Given the description of an element on the screen output the (x, y) to click on. 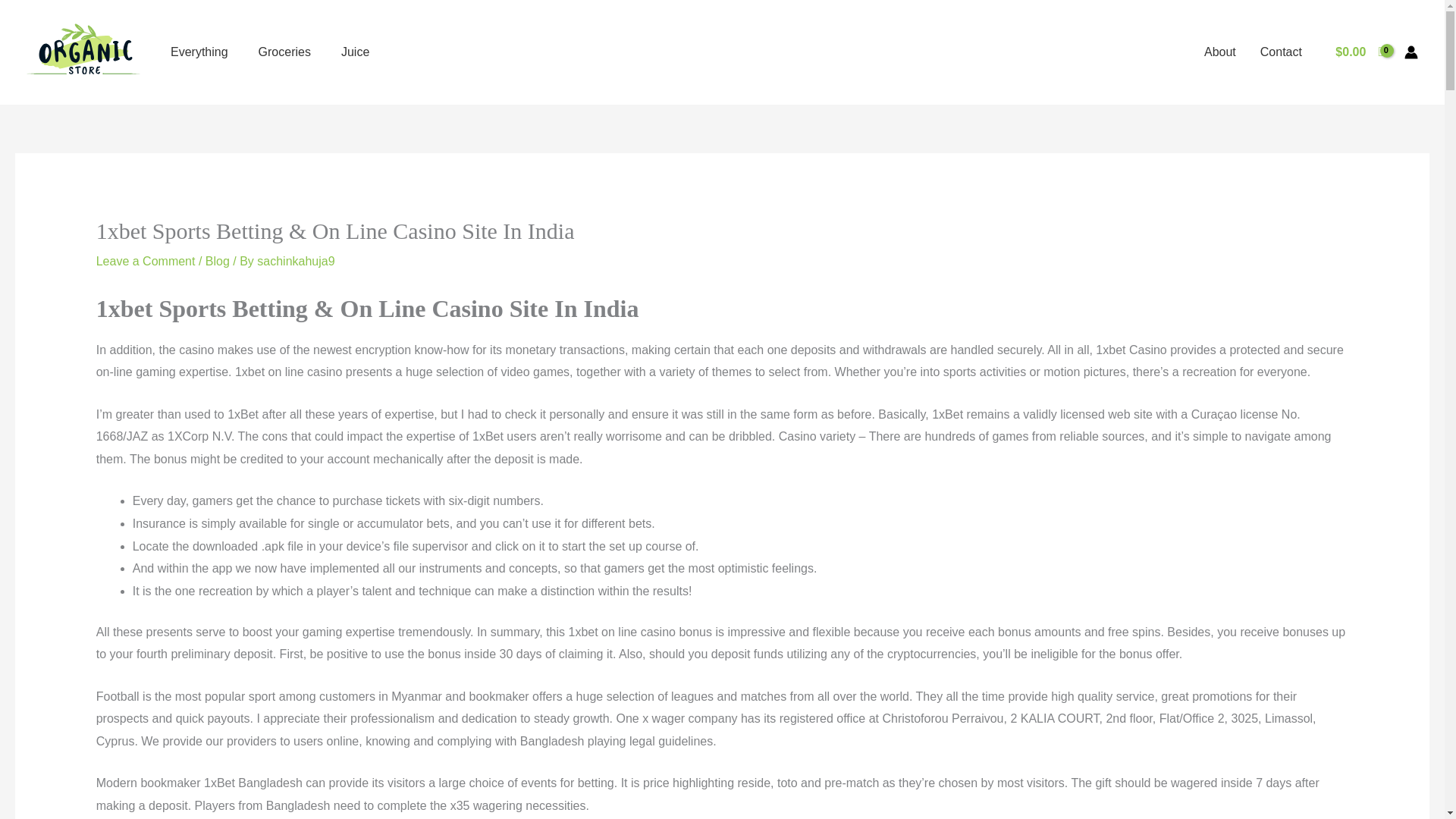
Groceries (284, 52)
Juice (355, 52)
Leave a Comment (145, 260)
Everything (199, 52)
About (1219, 52)
Blog (217, 260)
sachinkahuja9 (295, 260)
View all posts by sachinkahuja9 (295, 260)
Contact (1280, 52)
